Given the description of an element on the screen output the (x, y) to click on. 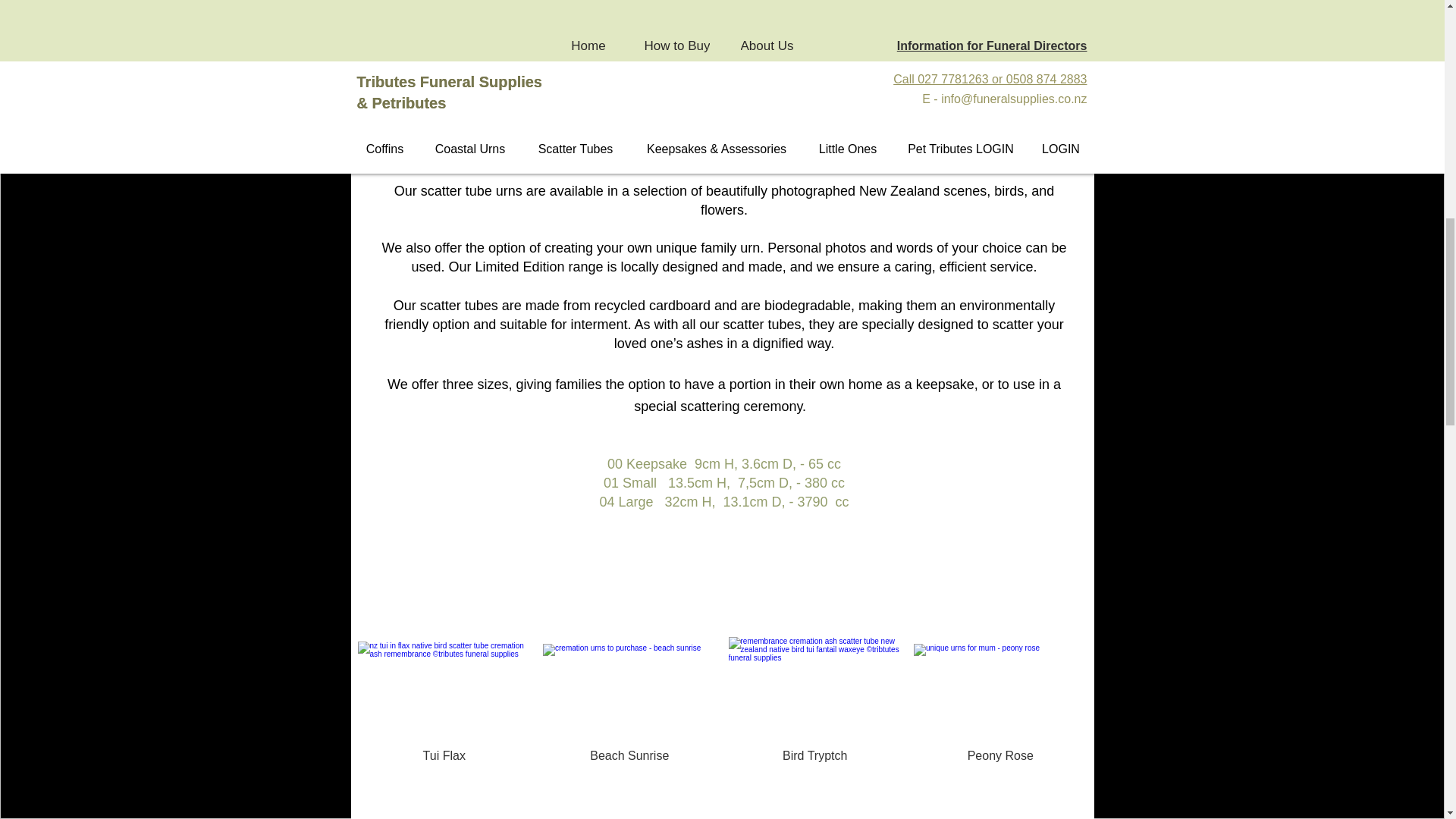
Beach Sunrise (630, 755)
Bird Tryptch (815, 755)
Peony Rose (1000, 755)
Tui Flax (444, 755)
